Given the description of an element on the screen output the (x, y) to click on. 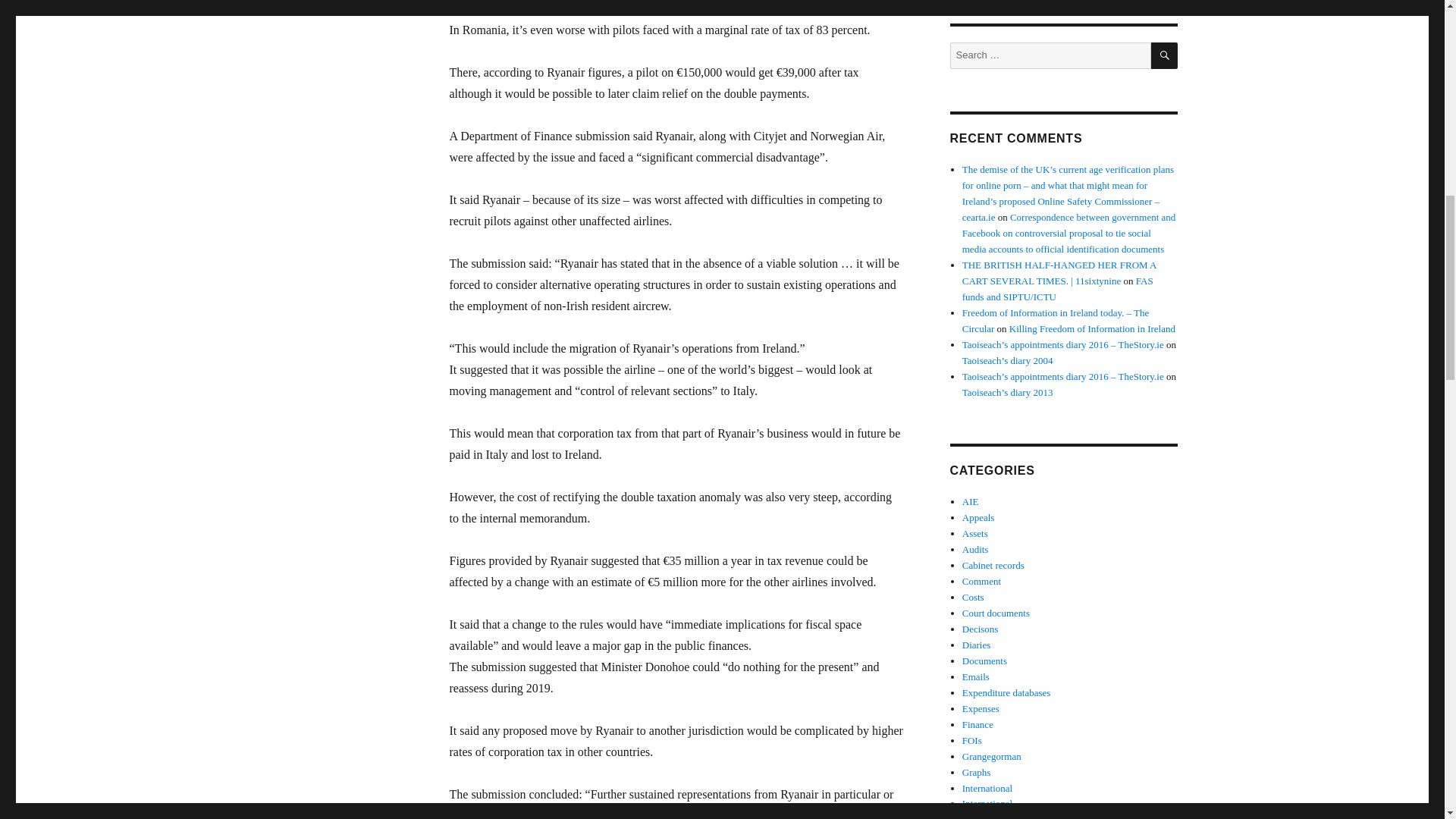
Assets (975, 532)
AIE (970, 501)
Diaries (976, 644)
Documents (984, 660)
Expenditure databases (1006, 692)
Cabinet records (993, 564)
Decisons (980, 628)
Comment (981, 581)
Court documents (995, 613)
Emails (976, 676)
Killing Freedom of Information in Ireland (1091, 328)
Audits (975, 549)
SEARCH (1164, 55)
Appeals (978, 517)
